Given the description of an element on the screen output the (x, y) to click on. 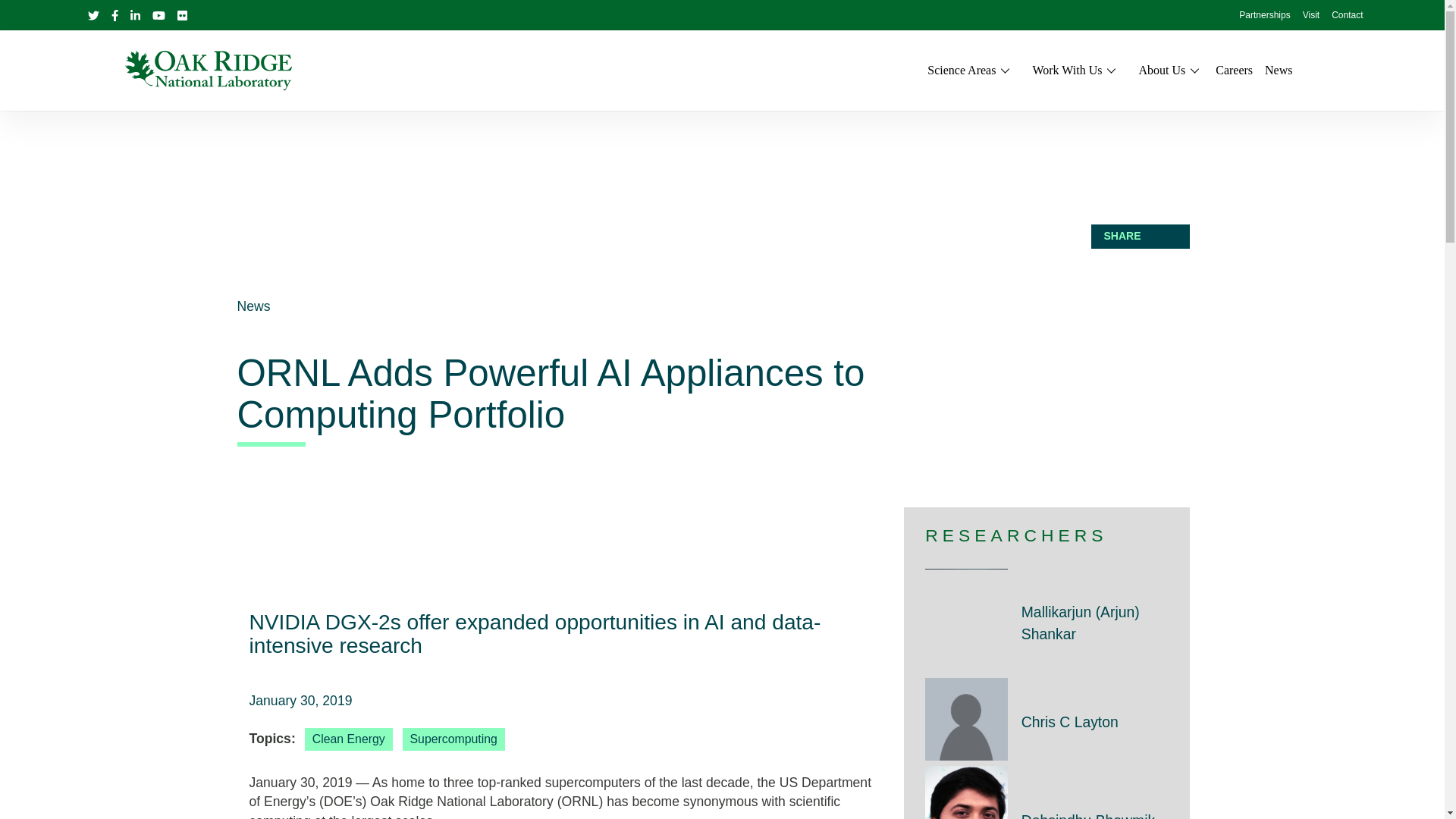
Careers (1233, 69)
Partnerships (1264, 15)
Contact (1347, 15)
News (1278, 69)
YouTube (158, 15)
Oak Ridge National Laboratory (208, 70)
